Given the description of an element on the screen output the (x, y) to click on. 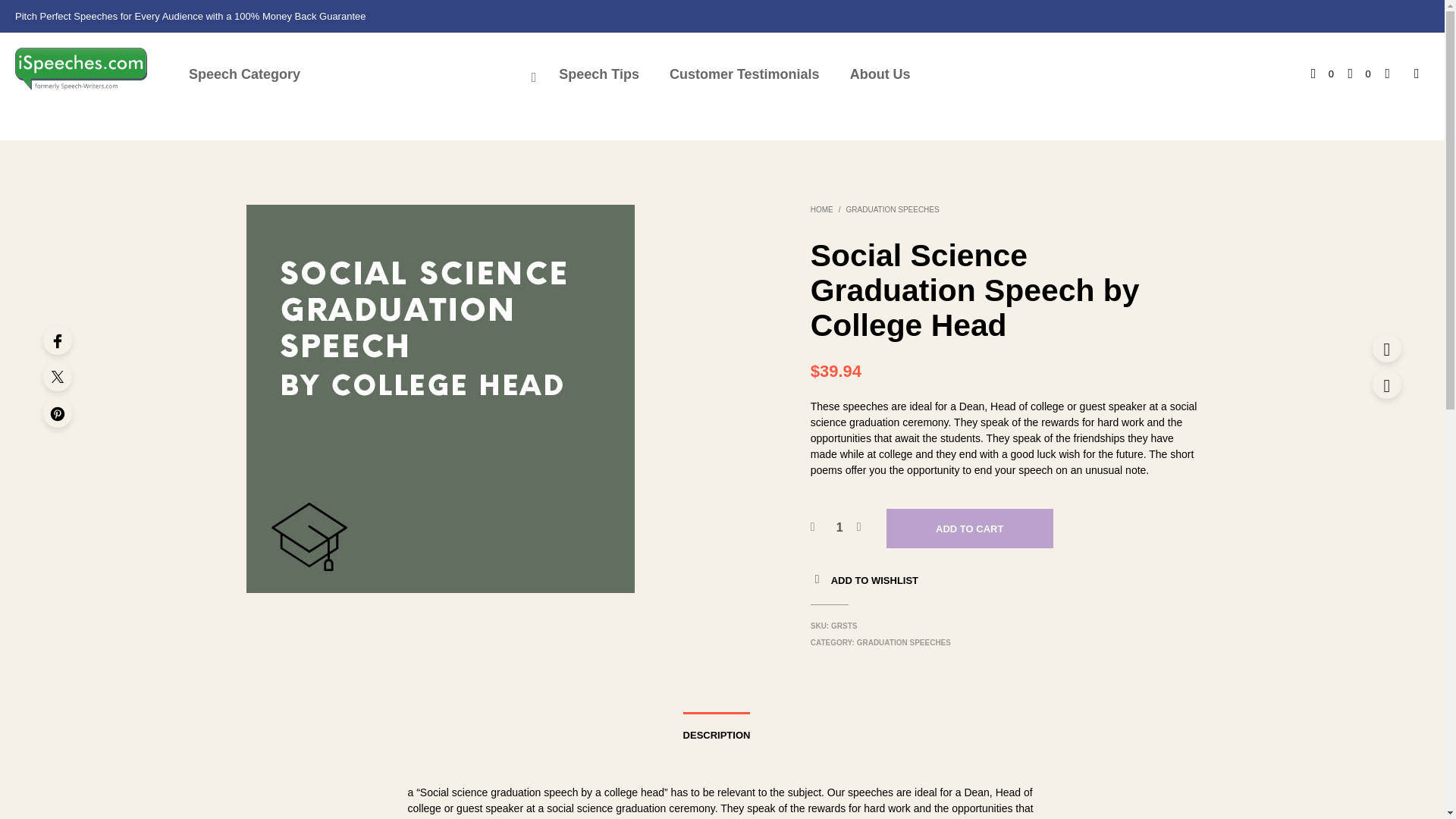
Speech Category (728, 74)
GRADUATION SPEECHES (358, 74)
0 (892, 209)
0 (1322, 73)
Speech Tips (1359, 73)
GRSTS (598, 74)
HOME (839, 527)
Qty (821, 209)
Customer Testimonials (839, 527)
ADD TO CART (743, 74)
About Us (969, 527)
